Given the description of an element on the screen output the (x, y) to click on. 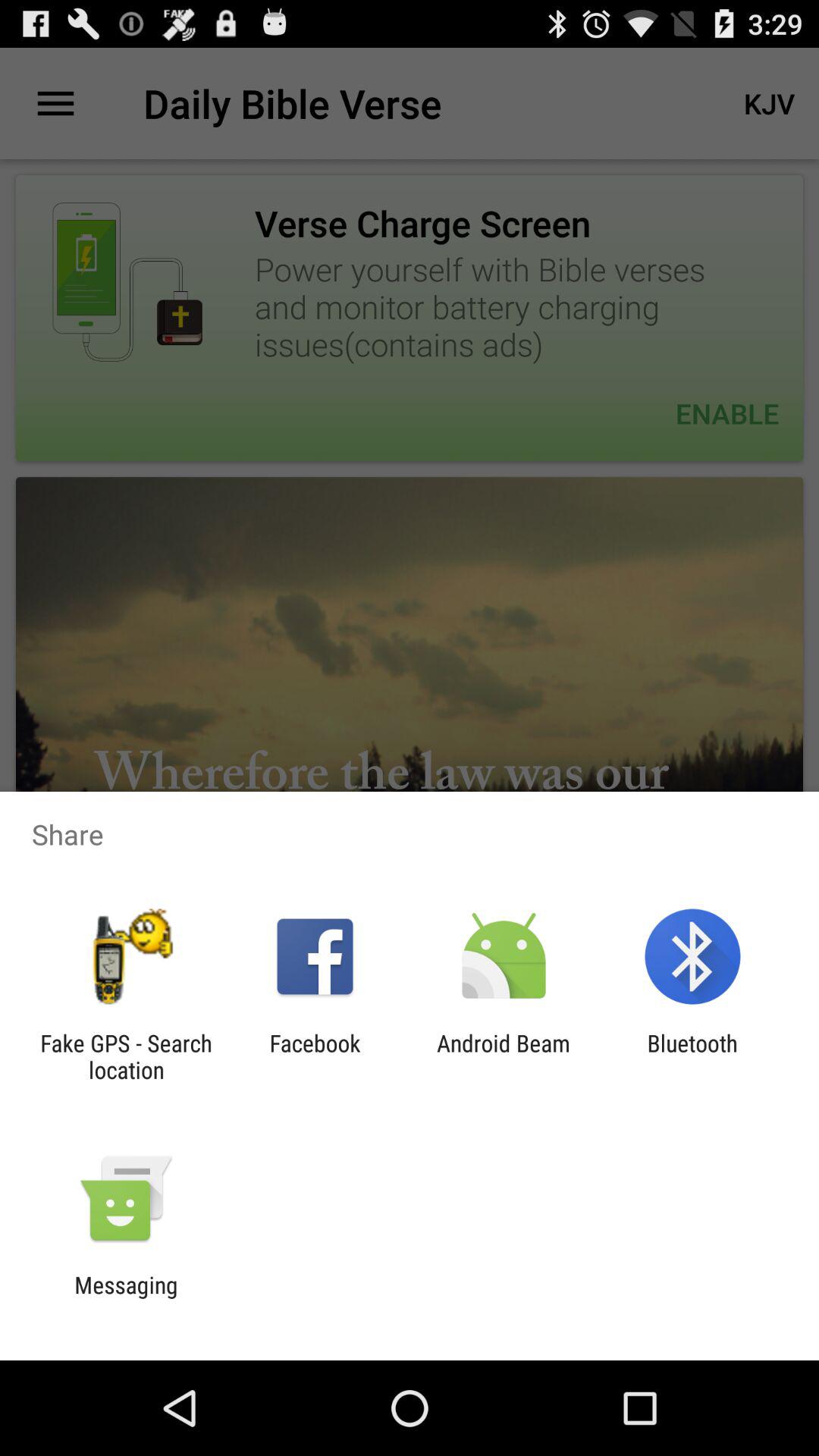
turn on the item at the bottom right corner (692, 1056)
